Given the description of an element on the screen output the (x, y) to click on. 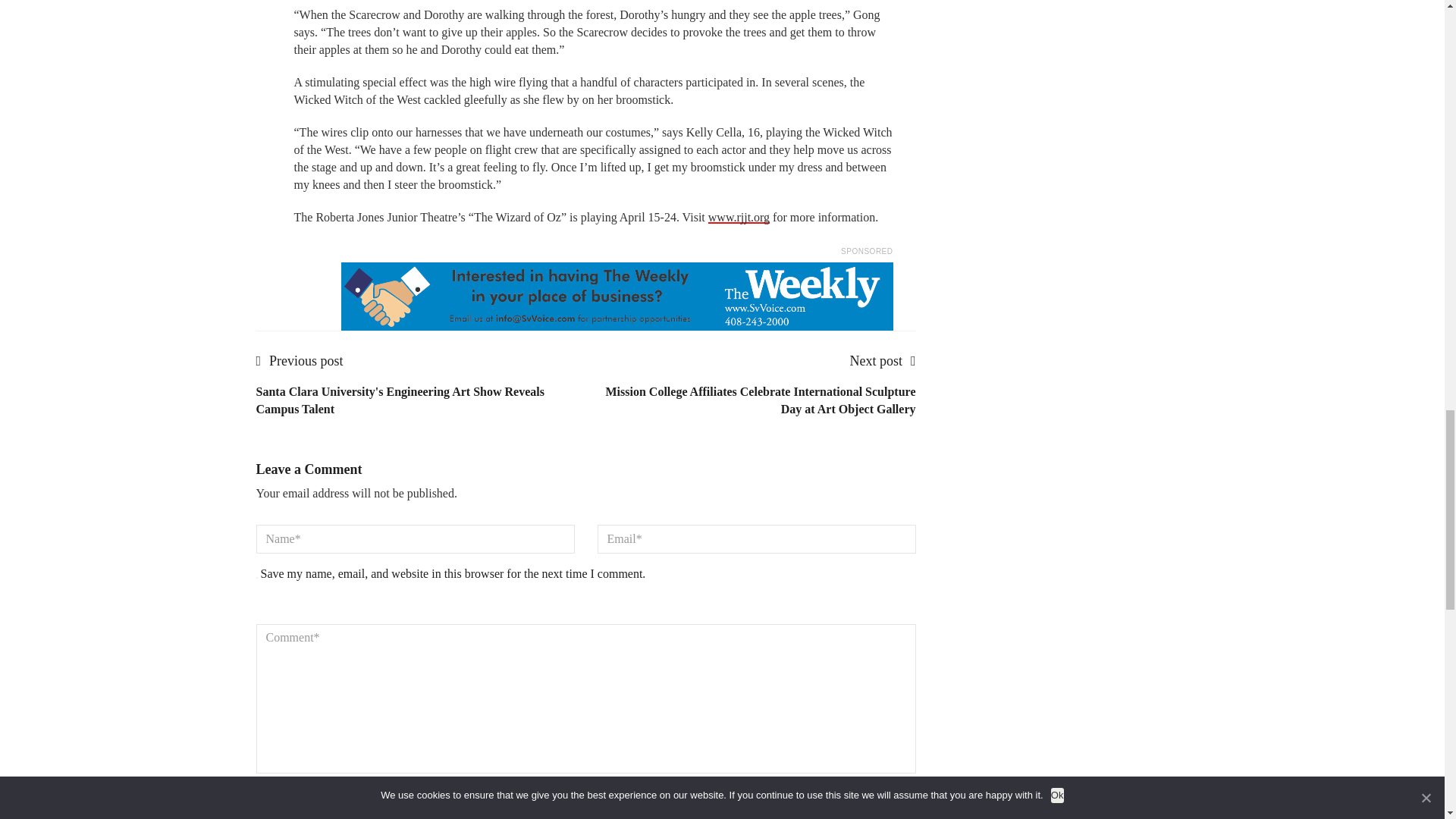
Post Comment (301, 799)
